Given the description of an element on the screen output the (x, y) to click on. 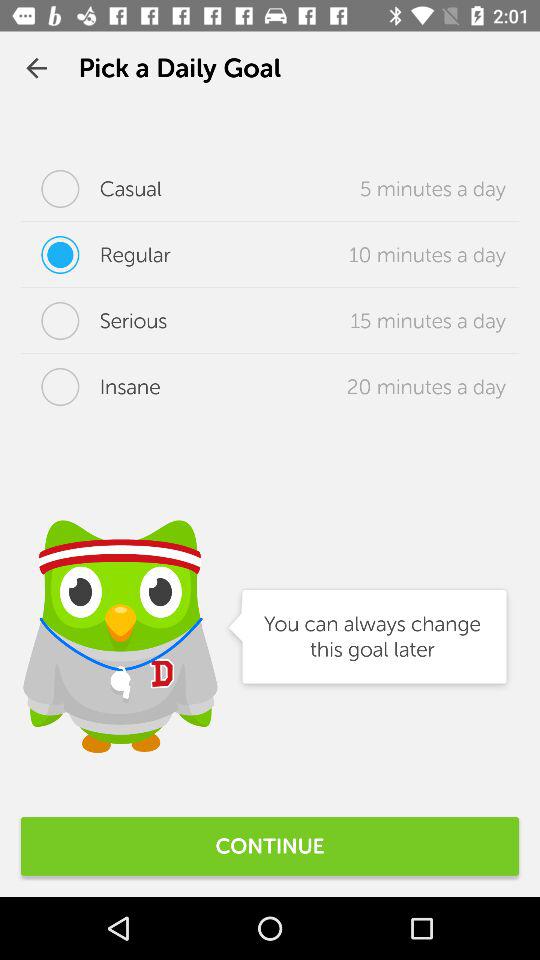
select the item next to 5 minutes a item (91, 188)
